Given the description of an element on the screen output the (x, y) to click on. 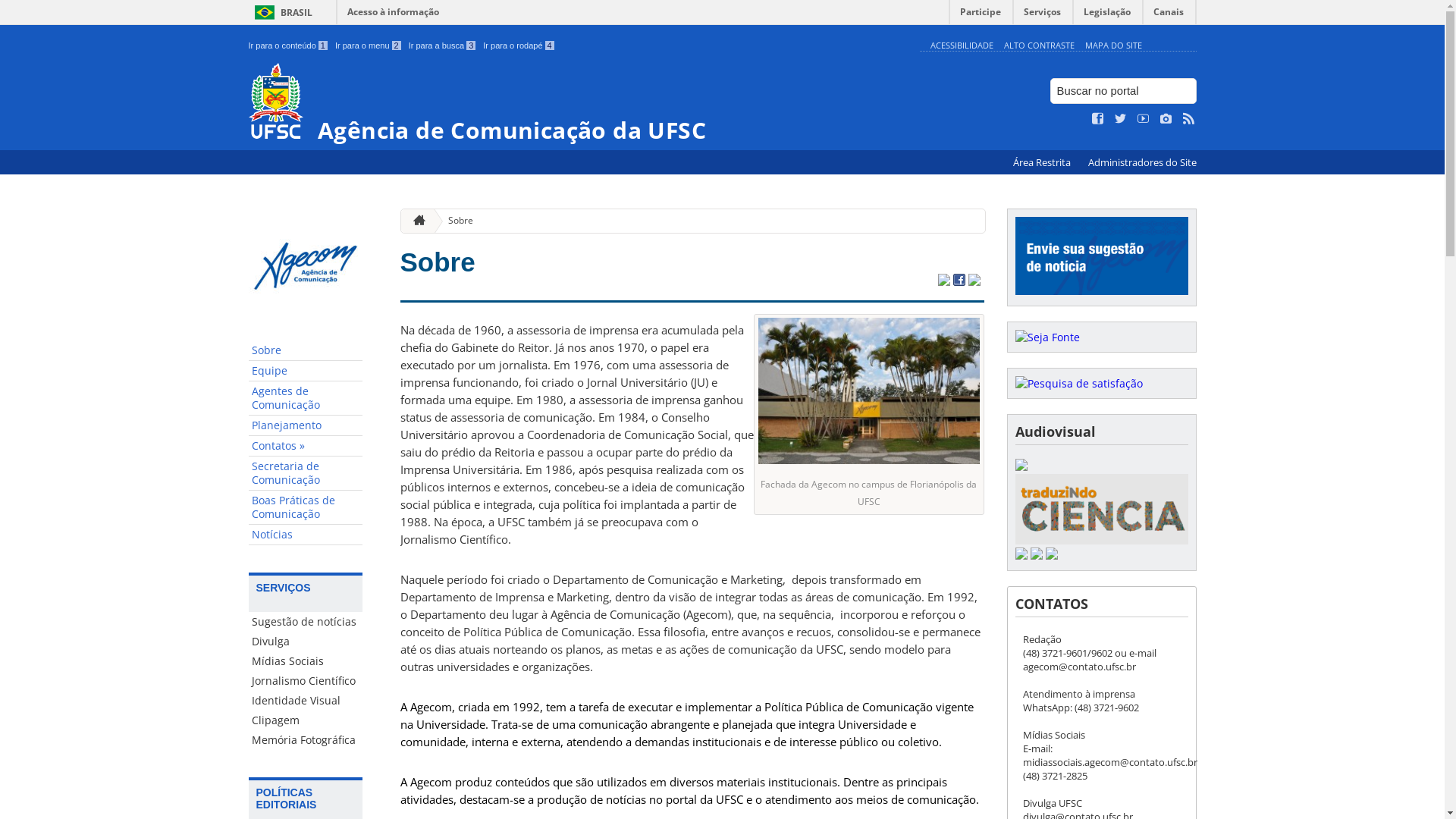
Ir para o menu 2 Element type: text (368, 45)
Sobre Element type: text (305, 350)
Curta no Facebook Element type: hover (1098, 118)
Planejamento Element type: text (305, 425)
Compartilhar no Facebook Element type: hover (958, 280)
MAPA DO SITE Element type: text (1112, 44)
Sobre Element type: text (454, 220)
Administradores do Site Element type: text (1141, 162)
Veja no Instagram Element type: hover (1166, 118)
Clipagem Element type: text (305, 720)
ACESSIBILIDADE Element type: text (960, 44)
Canais Element type: text (1169, 15)
Siga no Twitter Element type: hover (1120, 118)
Ir para a busca 3 Element type: text (442, 45)
Participe Element type: text (980, 15)
Sobre Element type: text (437, 261)
Compartilhar no WhatsApp Element type: hover (973, 280)
Divulga Element type: text (305, 641)
BRASIL Element type: text (280, 12)
ALTO CONTRASTE Element type: text (1039, 44)
Compartilhar no Twitter Element type: hover (943, 280)
Equipe Element type: text (305, 370)
Identidade Visual Element type: text (305, 700)
